Given the description of an element on the screen output the (x, y) to click on. 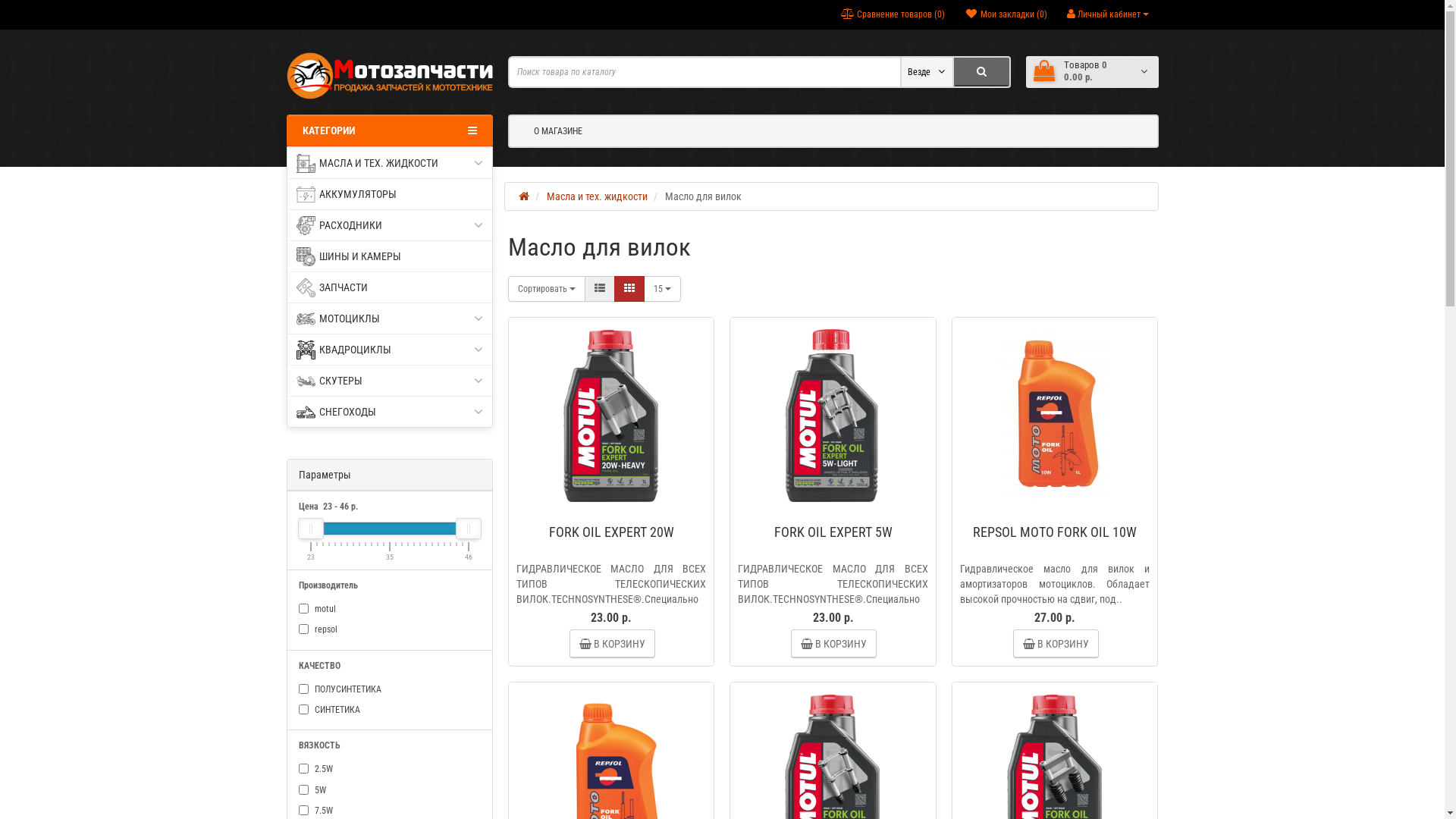
REPSOL MOTO FORK OIL 10W Element type: hover (1054, 413)
FORK OIL EXPERT 5W Element type: hover (832, 413)
15 Element type: text (661, 288)
FORK OIL EXPERT 20W Element type: hover (610, 413)
REPSOL MOTO FORK OIL 10W Element type: text (1054, 531)
FORK OIL EXPERT 20W Element type: text (611, 531)
FORK OIL EXPERT 5W Element type: text (833, 531)
